Given the description of an element on the screen output the (x, y) to click on. 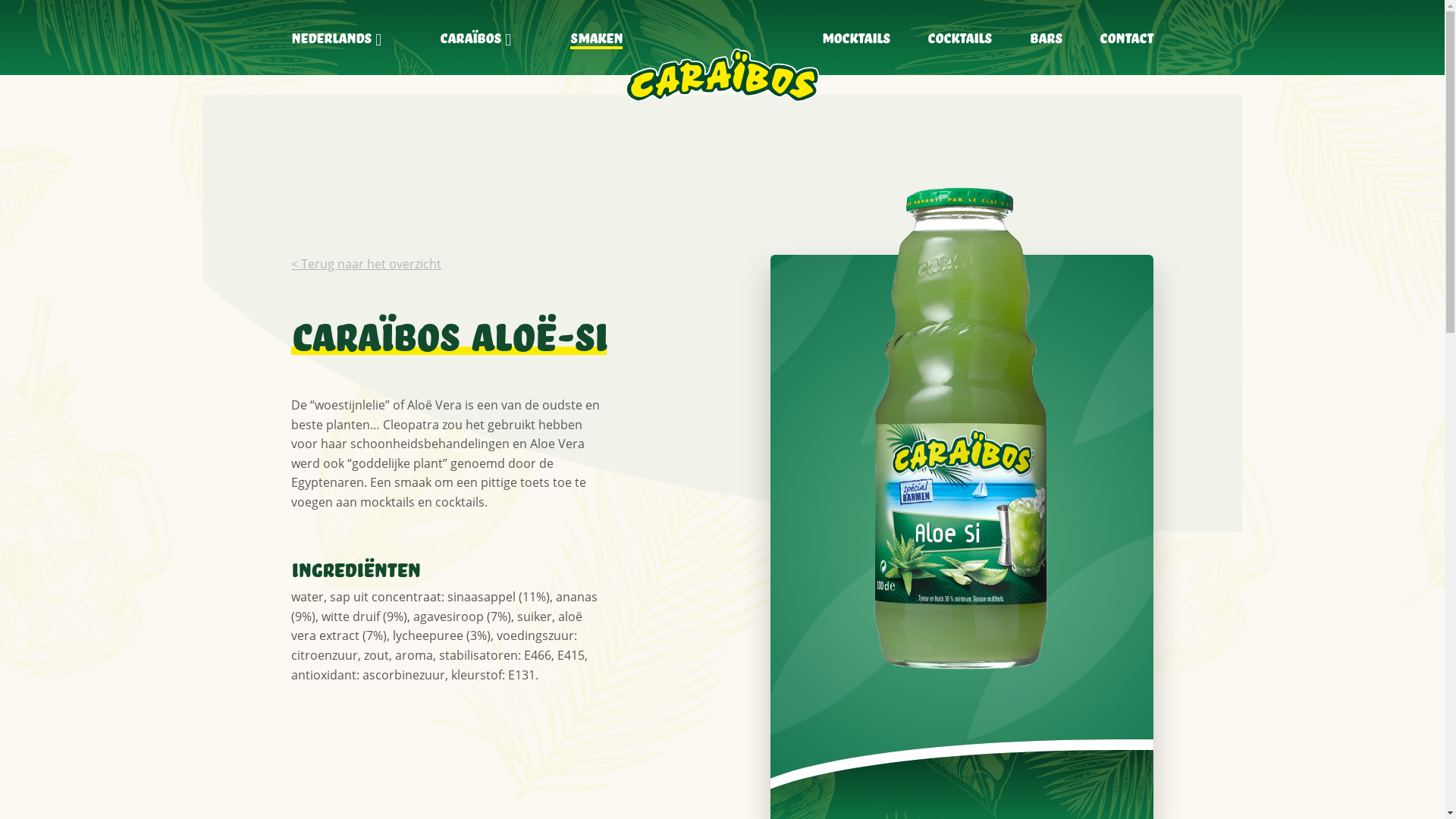
< Terug naar het overzicht Element type: text (366, 263)
Mocktails Element type: text (856, 36)
Contact Element type: text (1126, 36)
Cocktails Element type: text (959, 36)
Smaken Element type: text (596, 36)
Bars Element type: text (1045, 36)
Nederlands Element type: text (331, 36)
